Given the description of an element on the screen output the (x, y) to click on. 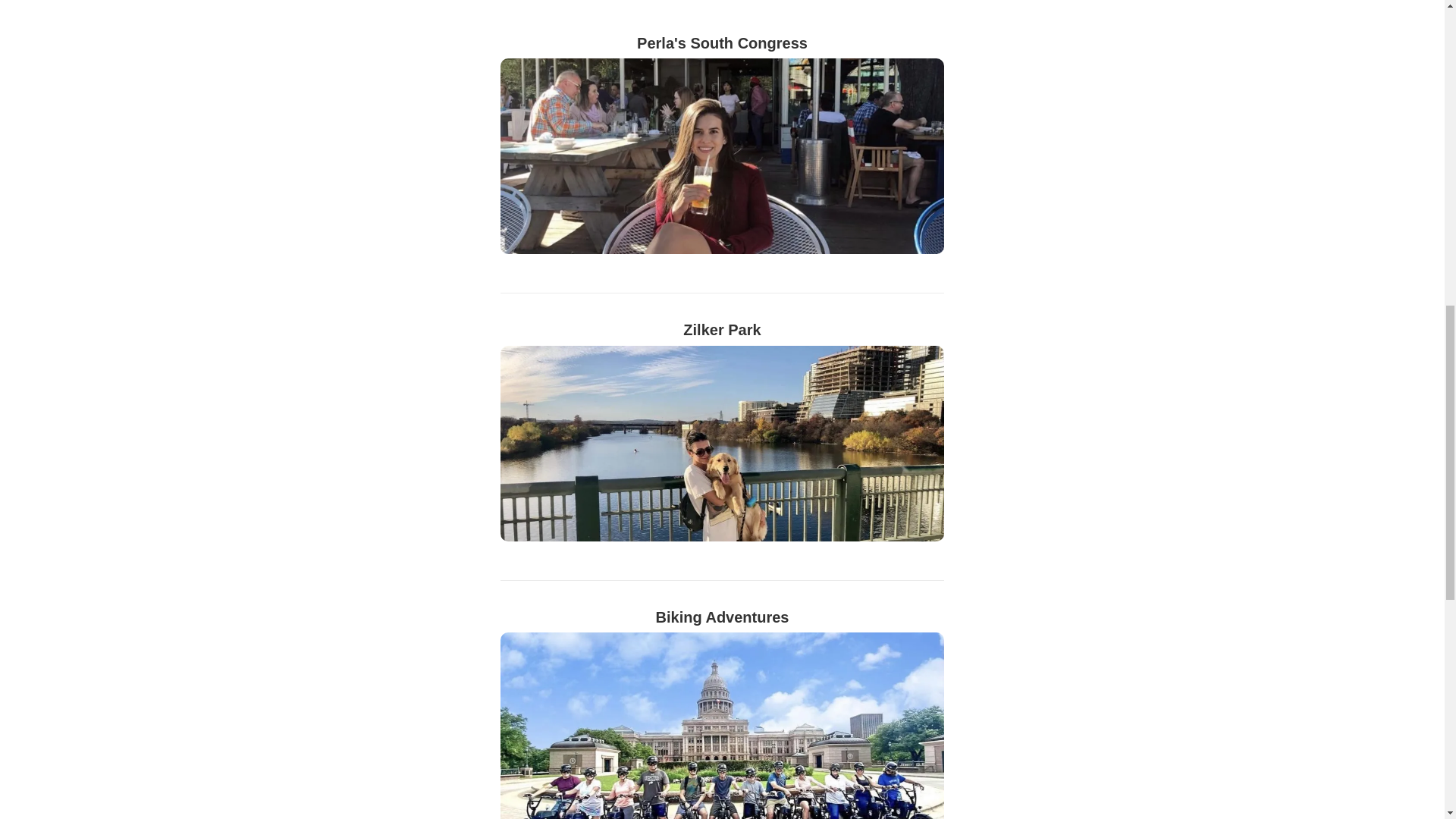
Your E-Bike Adventure Awaits (722, 775)
